Given the description of an element on the screen output the (x, y) to click on. 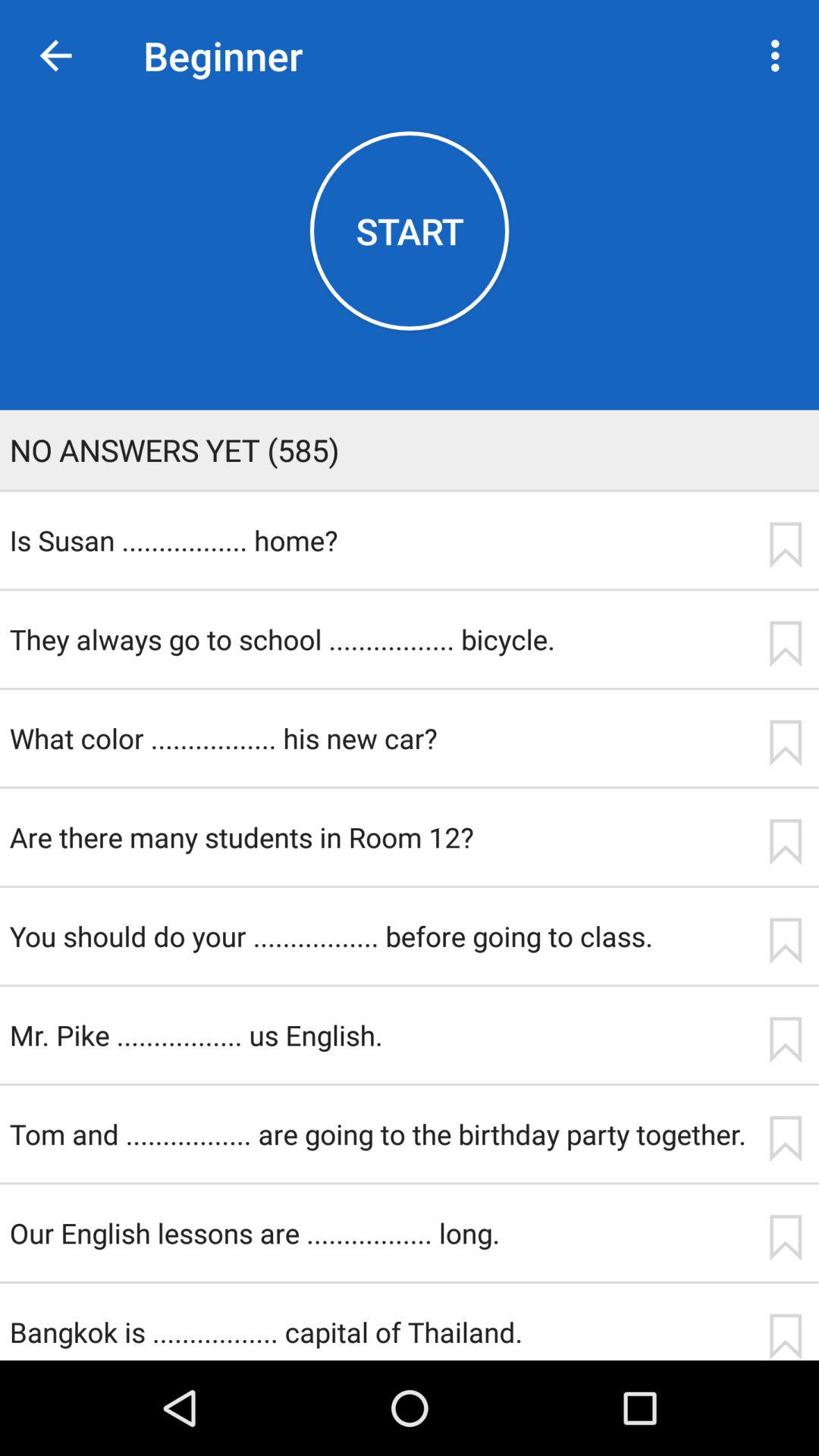
bookmark answer (784, 1336)
